Given the description of an element on the screen output the (x, y) to click on. 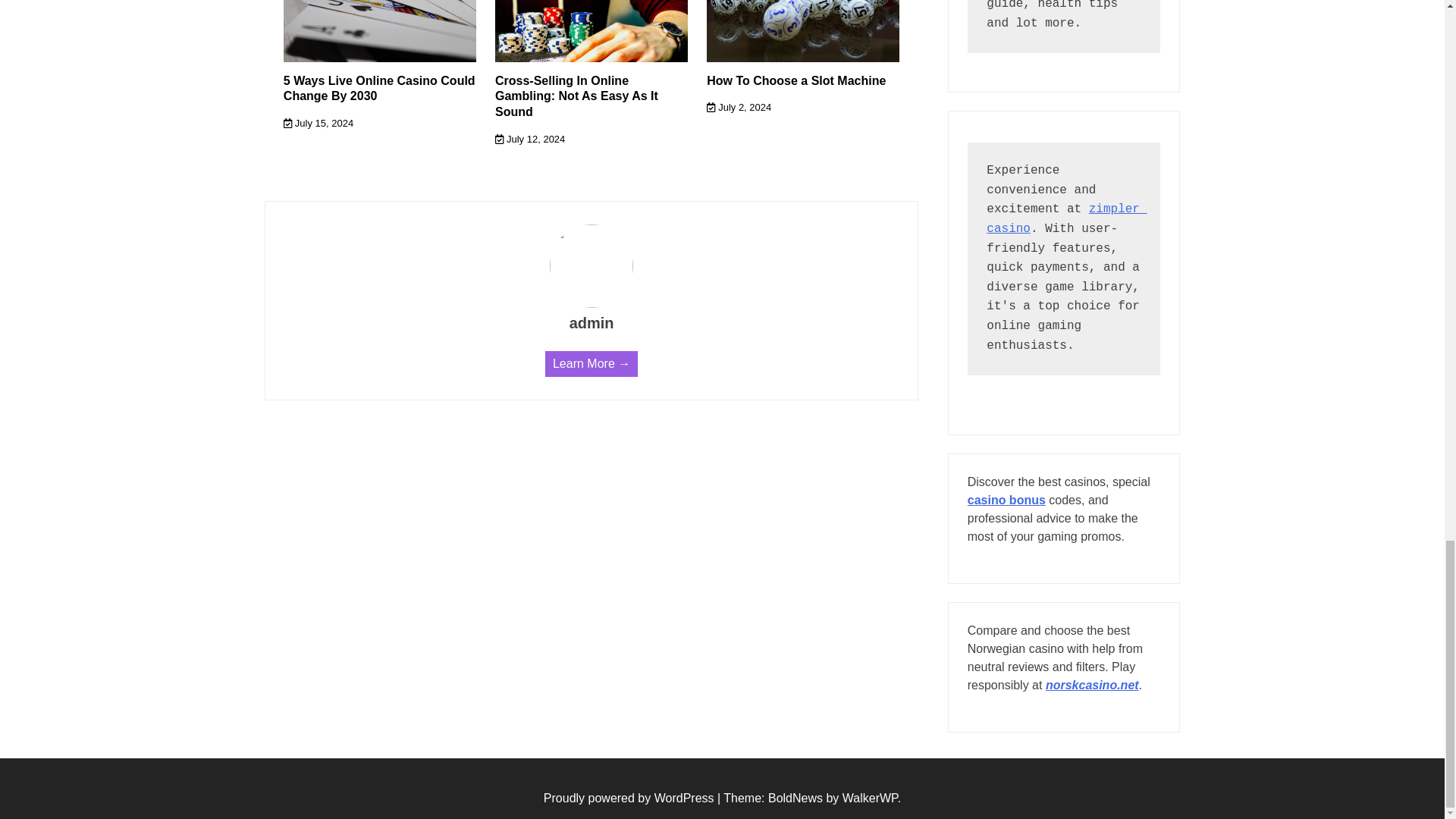
5 Ways Live Online Casino Could Change By 2030 (379, 87)
July 15, 2024 (318, 122)
How To Choose a Slot Machine (795, 79)
Cross-Selling In Online Gambling: Not As Easy As It Sound (576, 95)
July 12, 2024 (529, 138)
July 2, 2024 (738, 107)
